Given the description of an element on the screen output the (x, y) to click on. 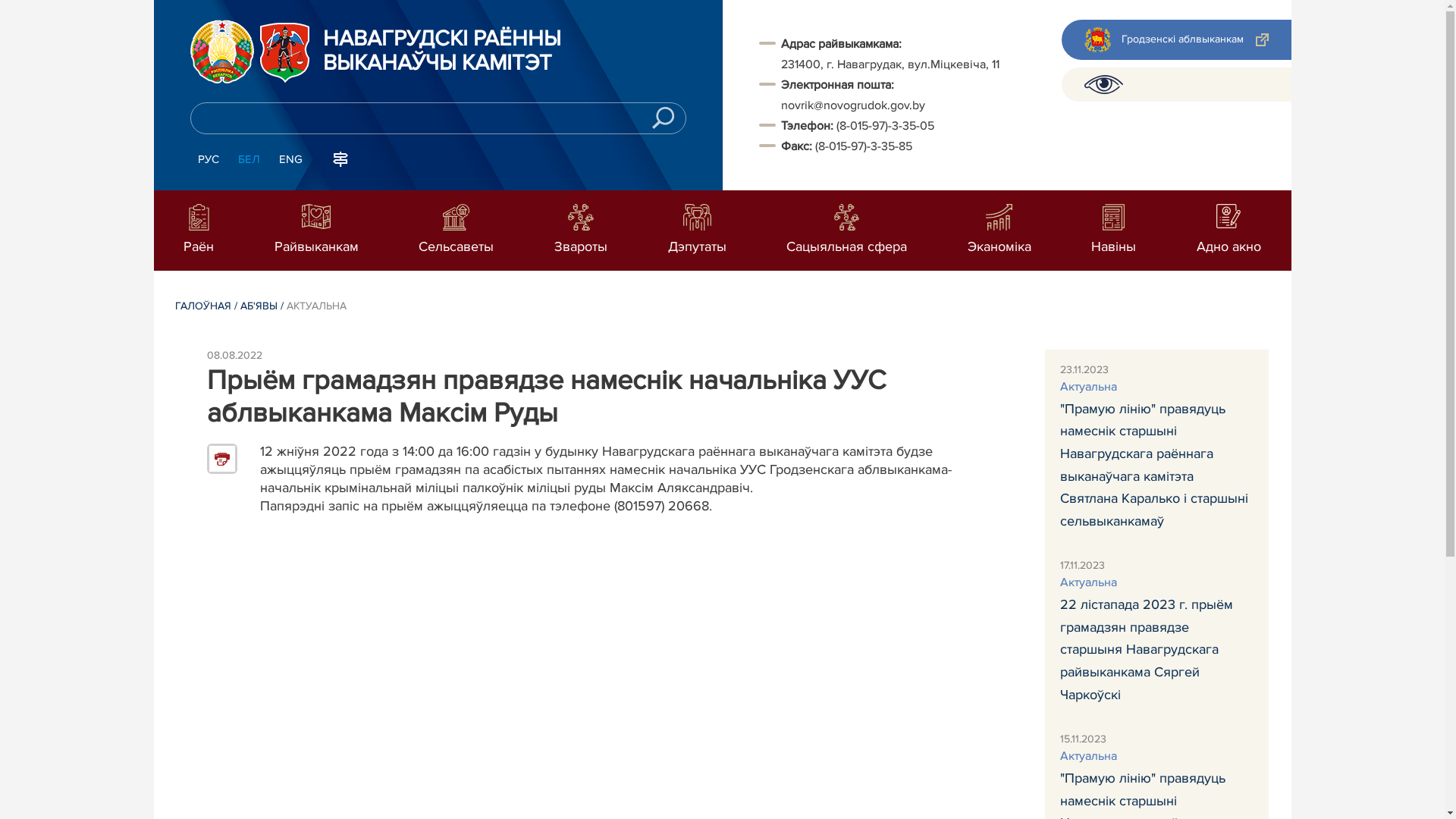
ENG Element type: text (290, 159)
